Given the description of an element on the screen output the (x, y) to click on. 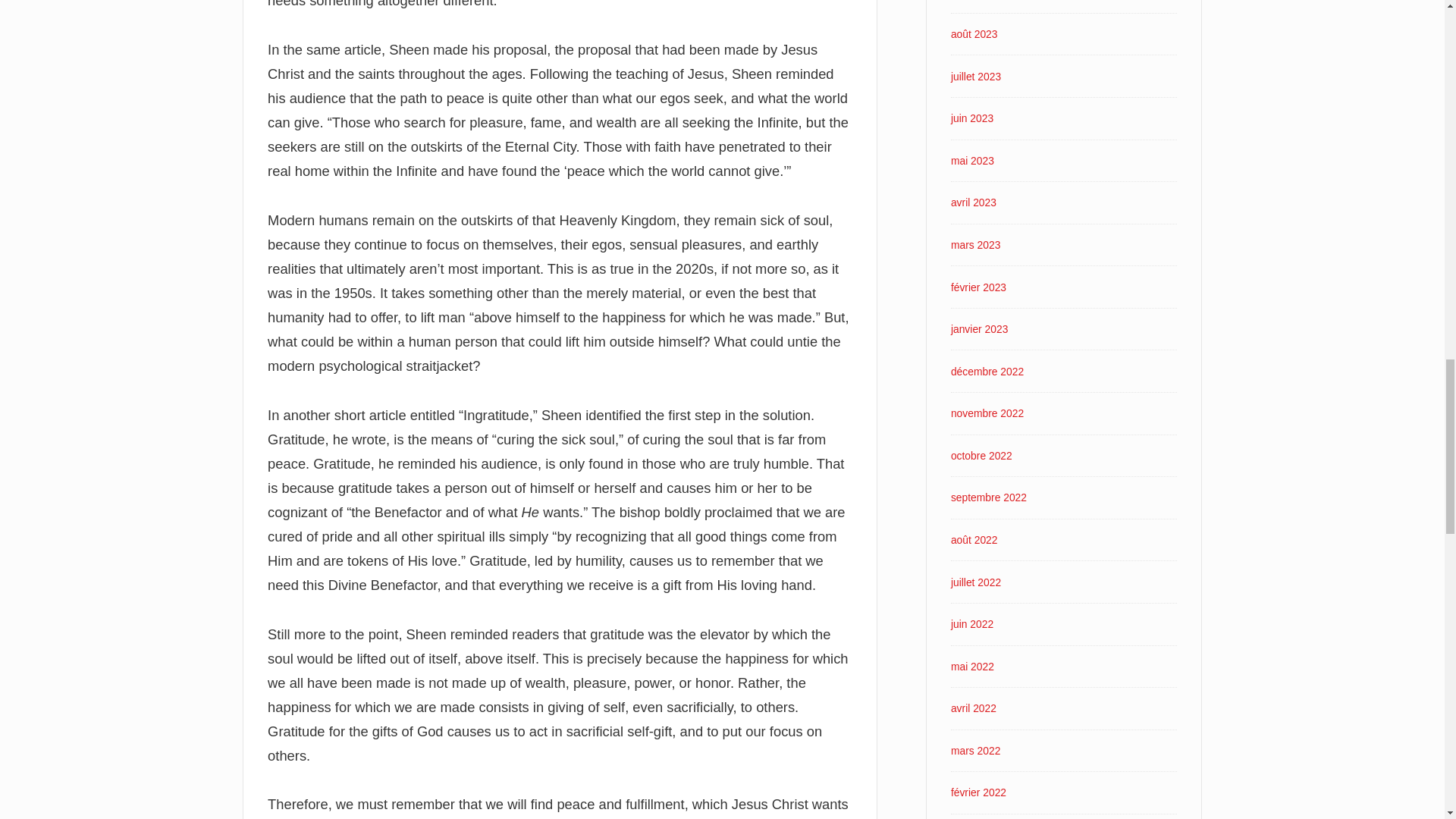
janvier 2023 (979, 328)
juillet 2023 (975, 76)
mai 2023 (972, 160)
juin 2023 (971, 118)
avril 2023 (972, 202)
mars 2023 (975, 244)
